Given the description of an element on the screen output the (x, y) to click on. 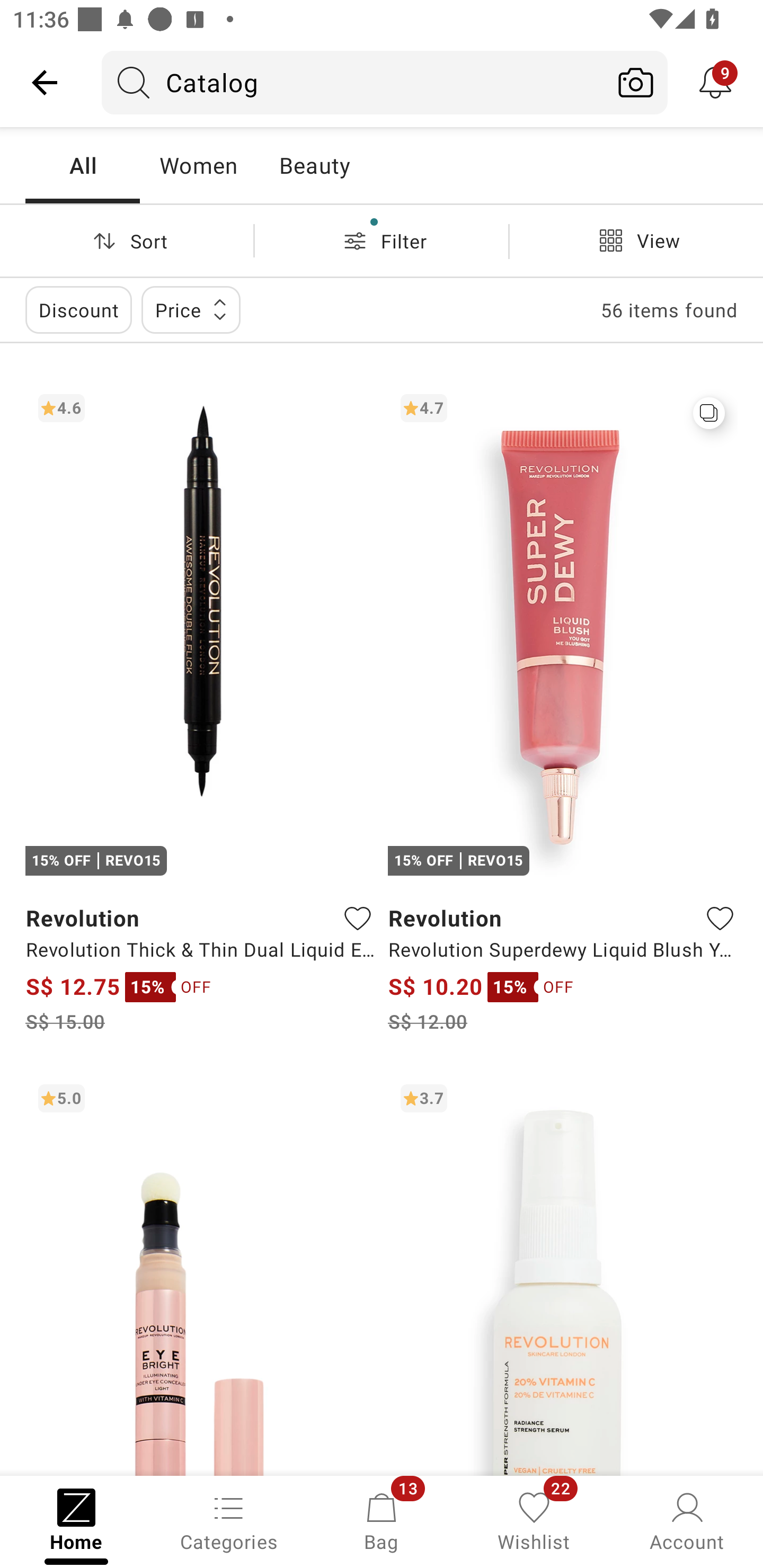
Navigate up (44, 82)
Catalog (352, 82)
Women (198, 165)
Beauty (314, 165)
Sort (126, 240)
Filter (381, 240)
View (636, 240)
Discount (78, 309)
Price (190, 309)
5.0 (200, 1272)
3.7 (562, 1272)
Categories (228, 1519)
Bag, 13 new notifications Bag (381, 1519)
Wishlist, 22 new notifications Wishlist (533, 1519)
Account (686, 1519)
